Given the description of an element on the screen output the (x, y) to click on. 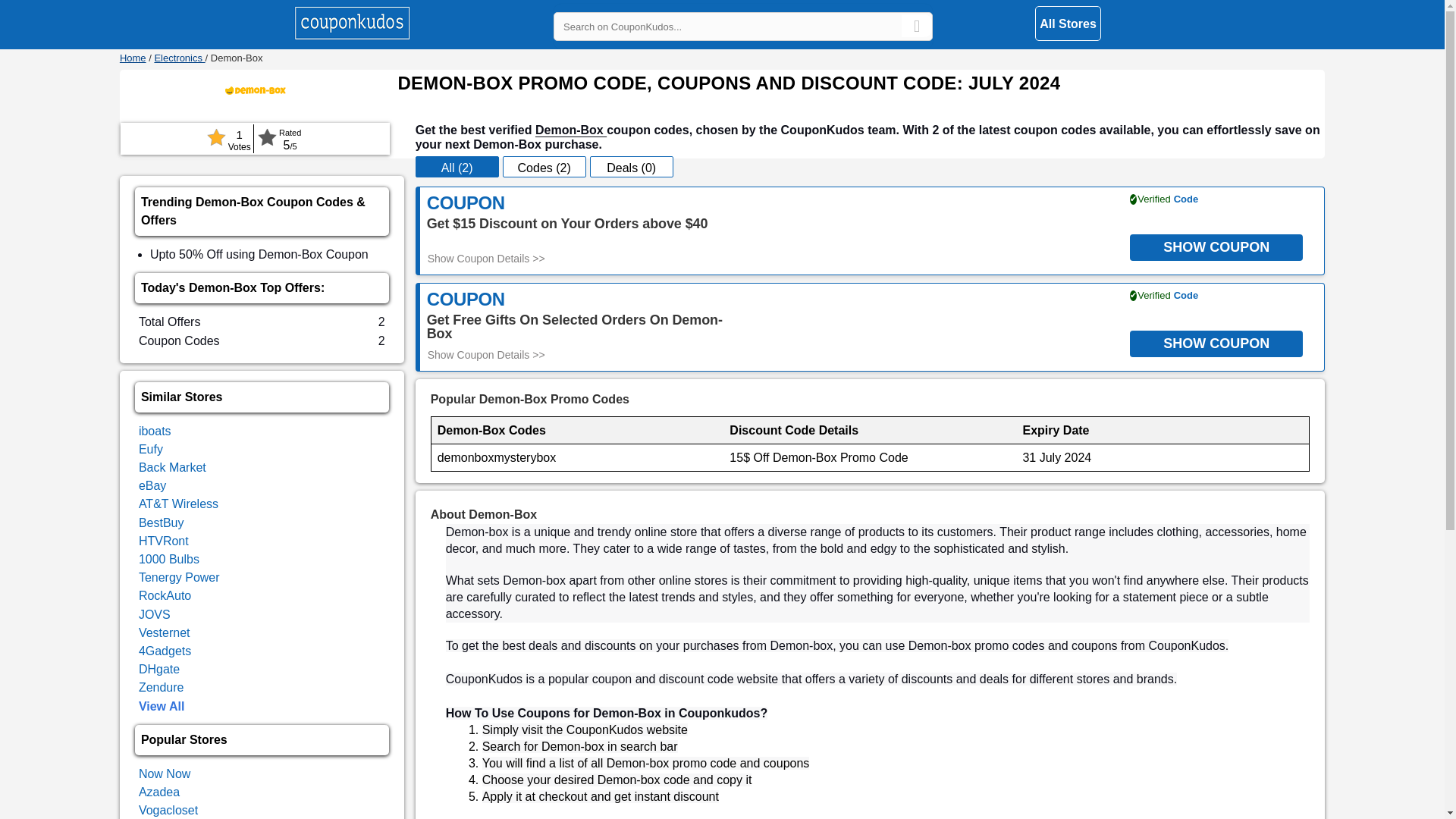
Azadea (158, 791)
Eufy (150, 449)
Demon-Box (571, 129)
All Stores (1067, 22)
Vesternet (164, 632)
eBay (151, 485)
RockAuto (164, 594)
HTVRont (163, 540)
View All (161, 706)
Now Now (164, 773)
Couponkudos.com (133, 57)
Zendure (161, 686)
SHOW COUPON (1216, 245)
Back Market (172, 467)
Vogacloset (168, 809)
